Given the description of an element on the screen output the (x, y) to click on. 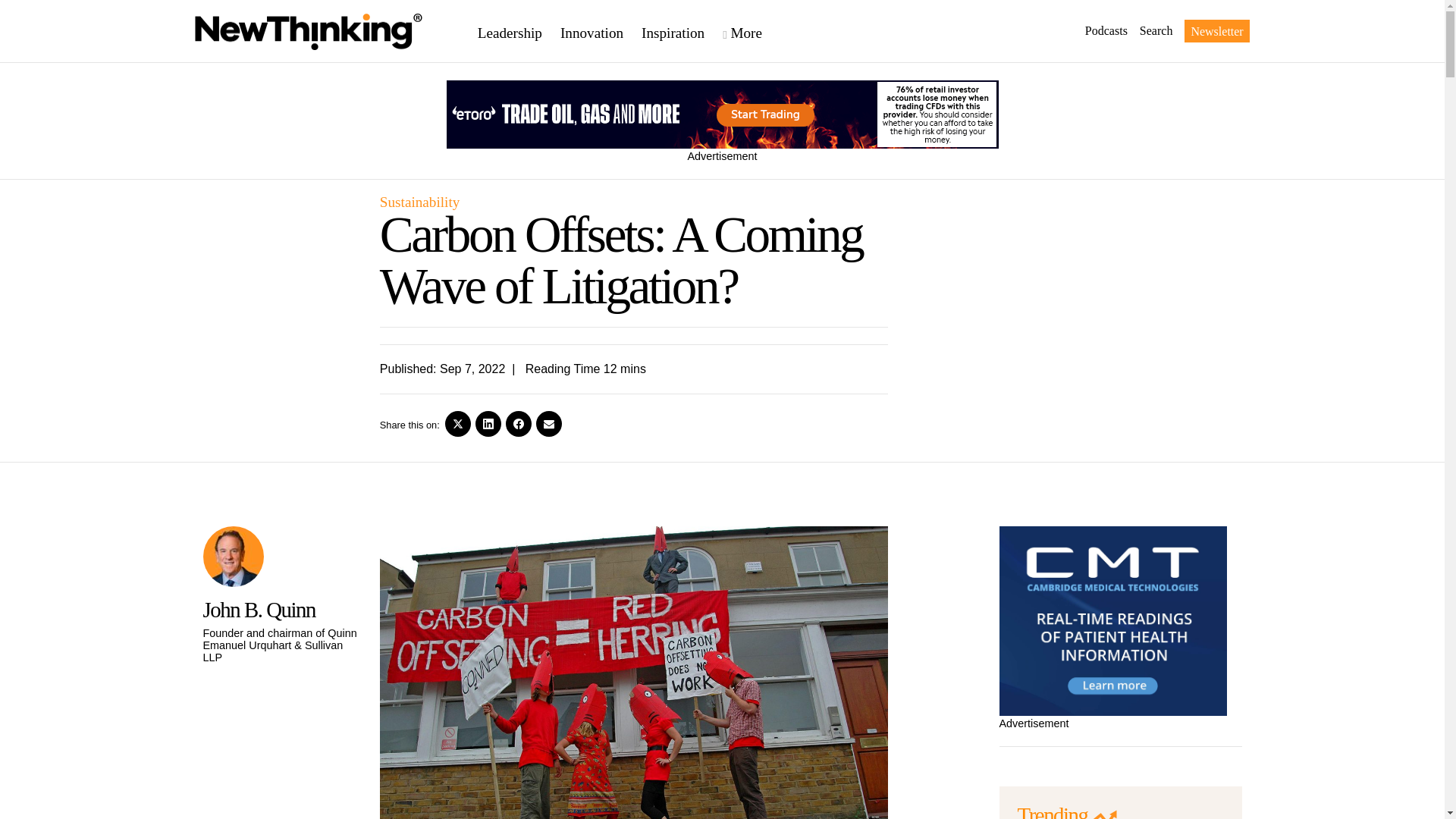
Inspiration (682, 32)
Podcasts (1099, 30)
Search (1149, 30)
Newsletter (1210, 30)
Posts by John B. Quinn (259, 609)
Innovation (601, 32)
Newsletter (1217, 30)
Sustainability (420, 201)
More (751, 32)
Leadership (518, 32)
